Given the description of an element on the screen output the (x, y) to click on. 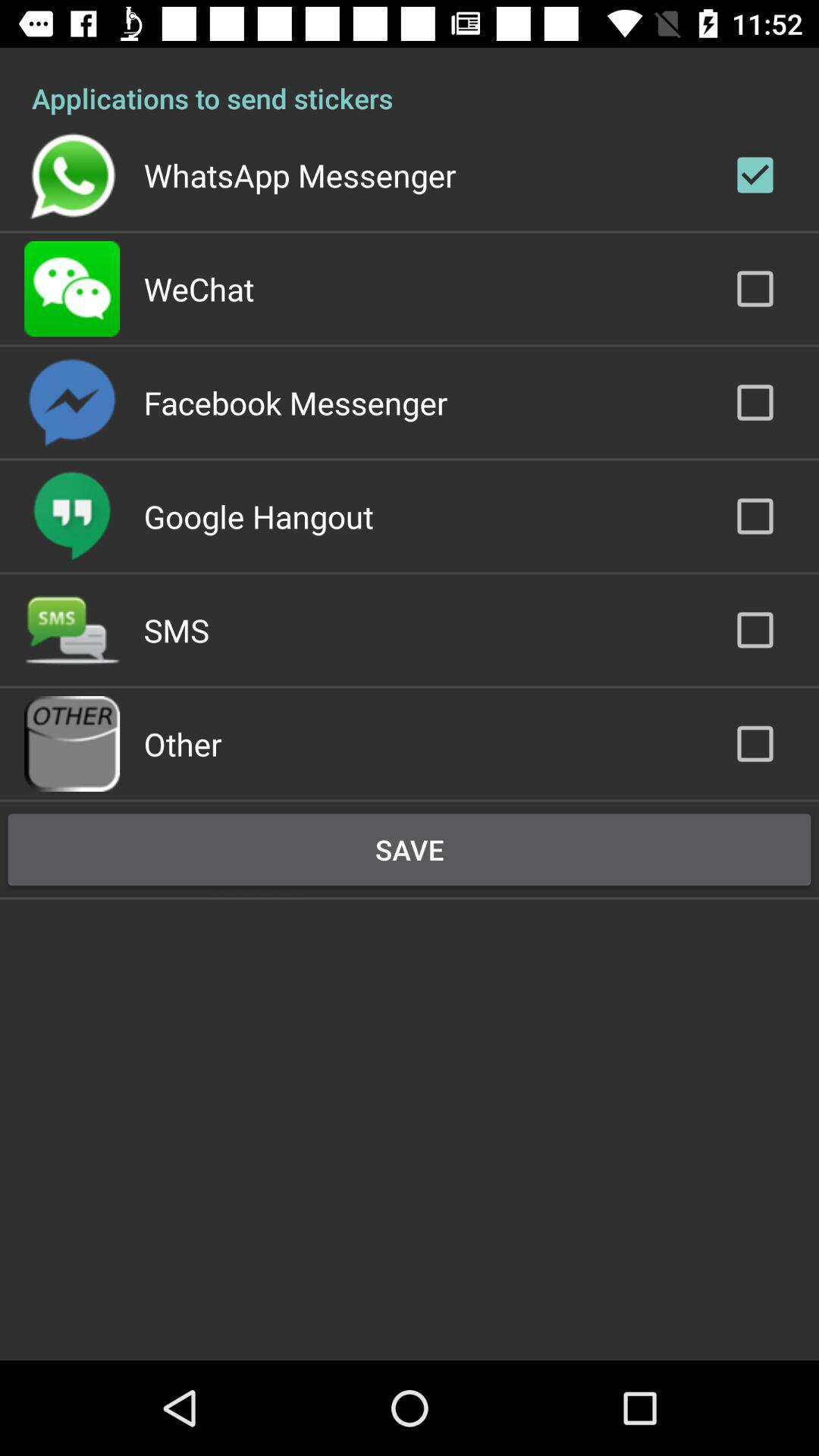
tap the applications to send app (409, 82)
